Given the description of an element on the screen output the (x, y) to click on. 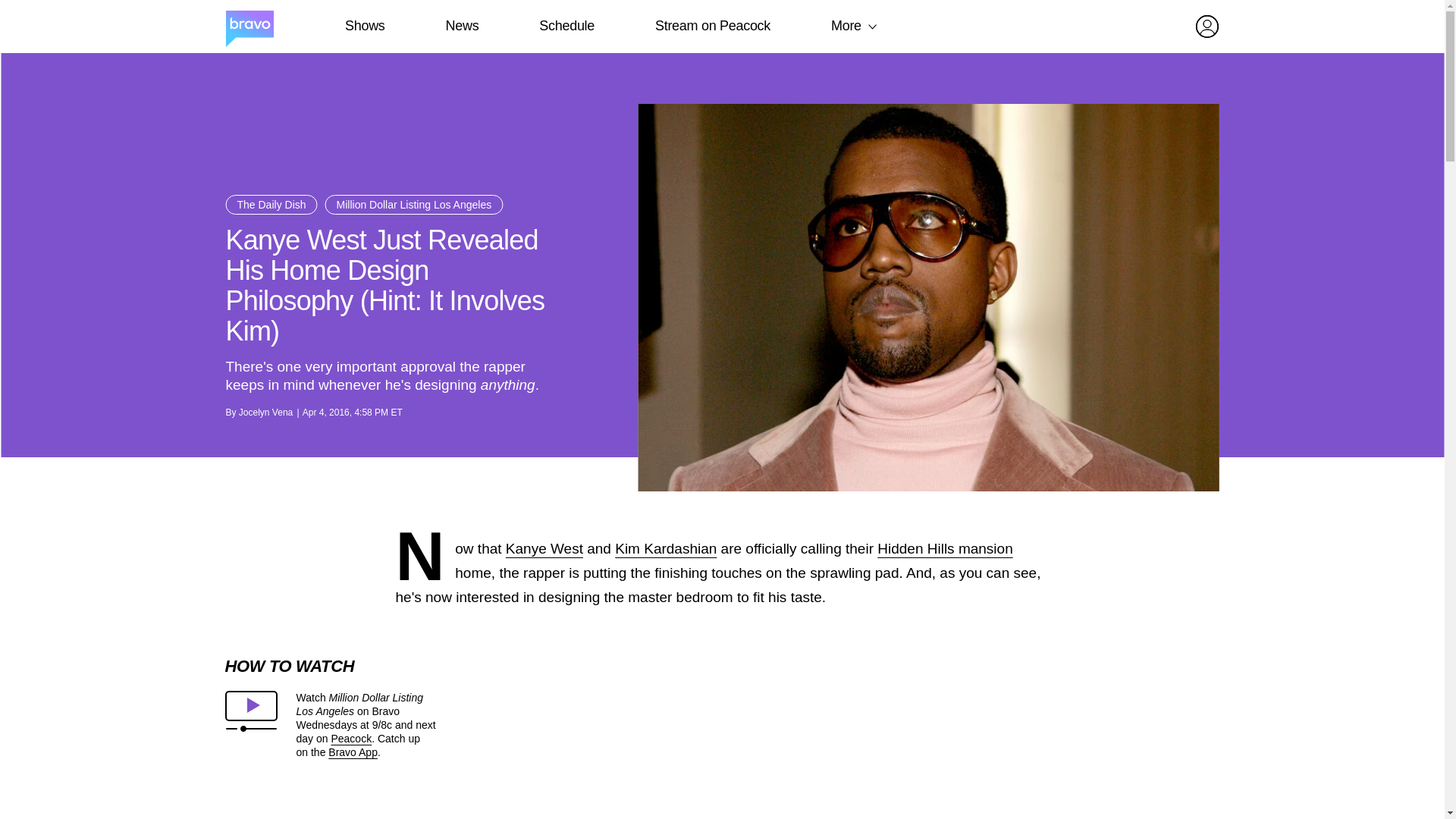
Home (249, 26)
Bravo App (353, 752)
The Daily Dish (271, 204)
News (462, 26)
Stream on Peacock (712, 26)
Peacock (350, 738)
More (846, 26)
Shows (363, 26)
Jocelyn Vena (265, 412)
Hidden Hills mansion (944, 548)
Schedule (566, 26)
Kanye West (544, 548)
Kim Kardashian (665, 548)
Million Dollar Listing Los Angeles (413, 204)
